Given the description of an element on the screen output the (x, y) to click on. 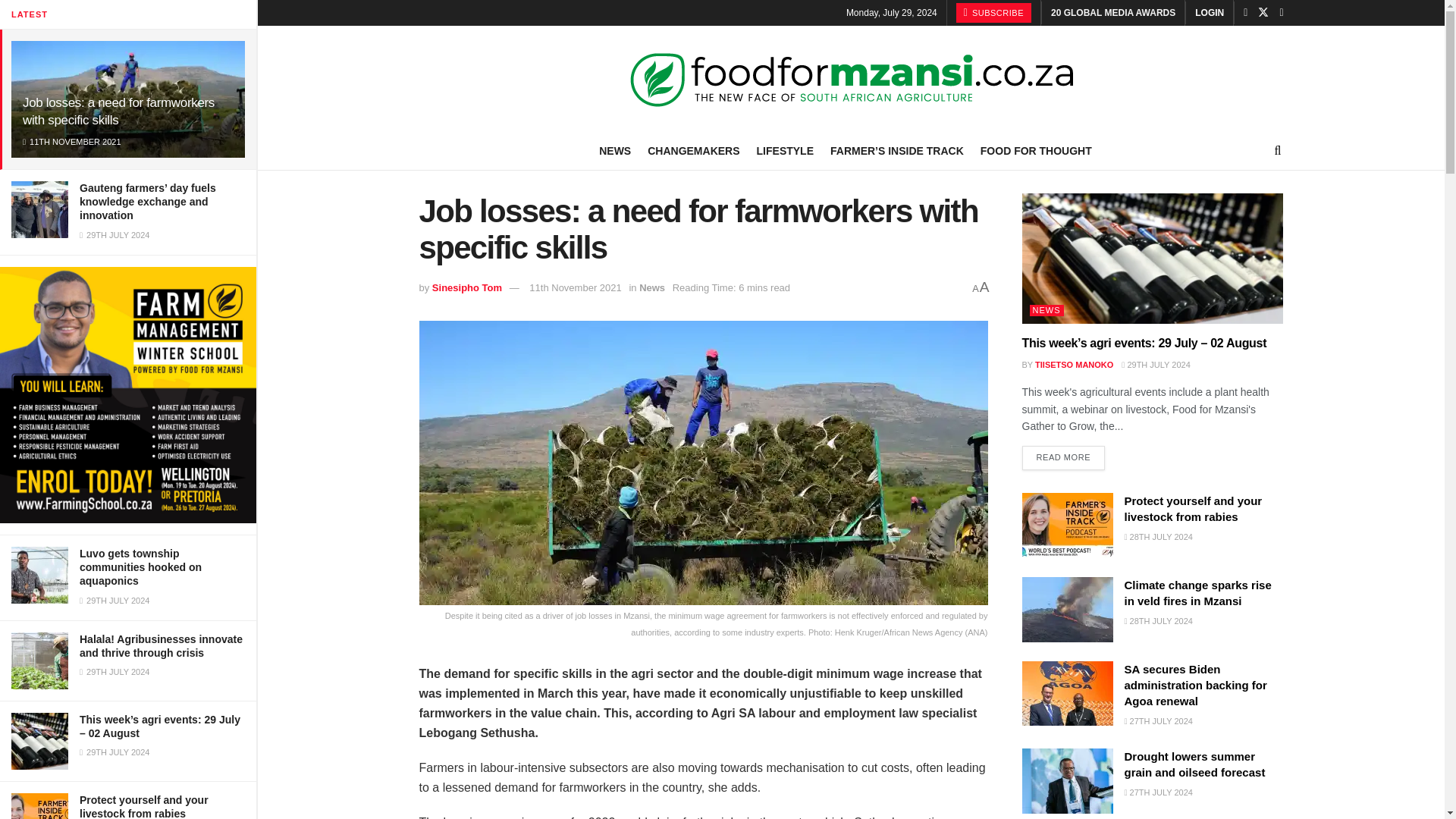
SUBSCRIBE (993, 12)
Luvo gets township communities hooked on aquaponics (141, 567)
LOGIN (1209, 12)
Job losses: a need for farmworkers with specific skills (118, 111)
LIFESTYLE (785, 150)
Protect yourself and your livestock from rabies (144, 806)
NEWS (614, 150)
CHANGEMAKERS (693, 150)
FOOD FOR THOUGHT (1035, 150)
Halala! Agribusinesses innovate and thrive through crisis (161, 646)
